Given the description of an element on the screen output the (x, y) to click on. 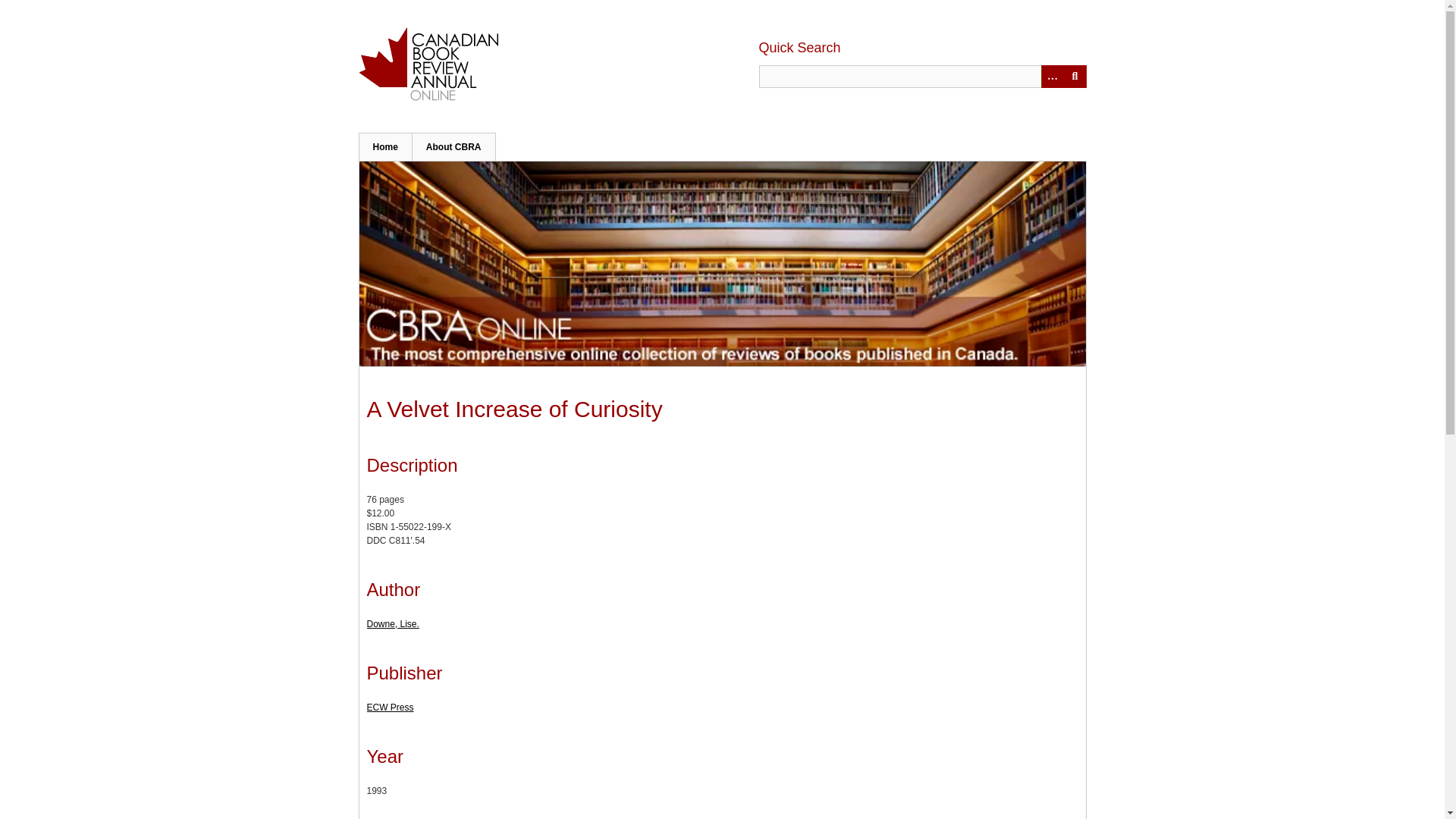
Submit (1074, 76)
Options (1051, 76)
ECW Press (389, 706)
Home (385, 146)
Downe, Lise. (392, 624)
About CBRA (454, 146)
Search (922, 76)
